Given the description of an element on the screen output the (x, y) to click on. 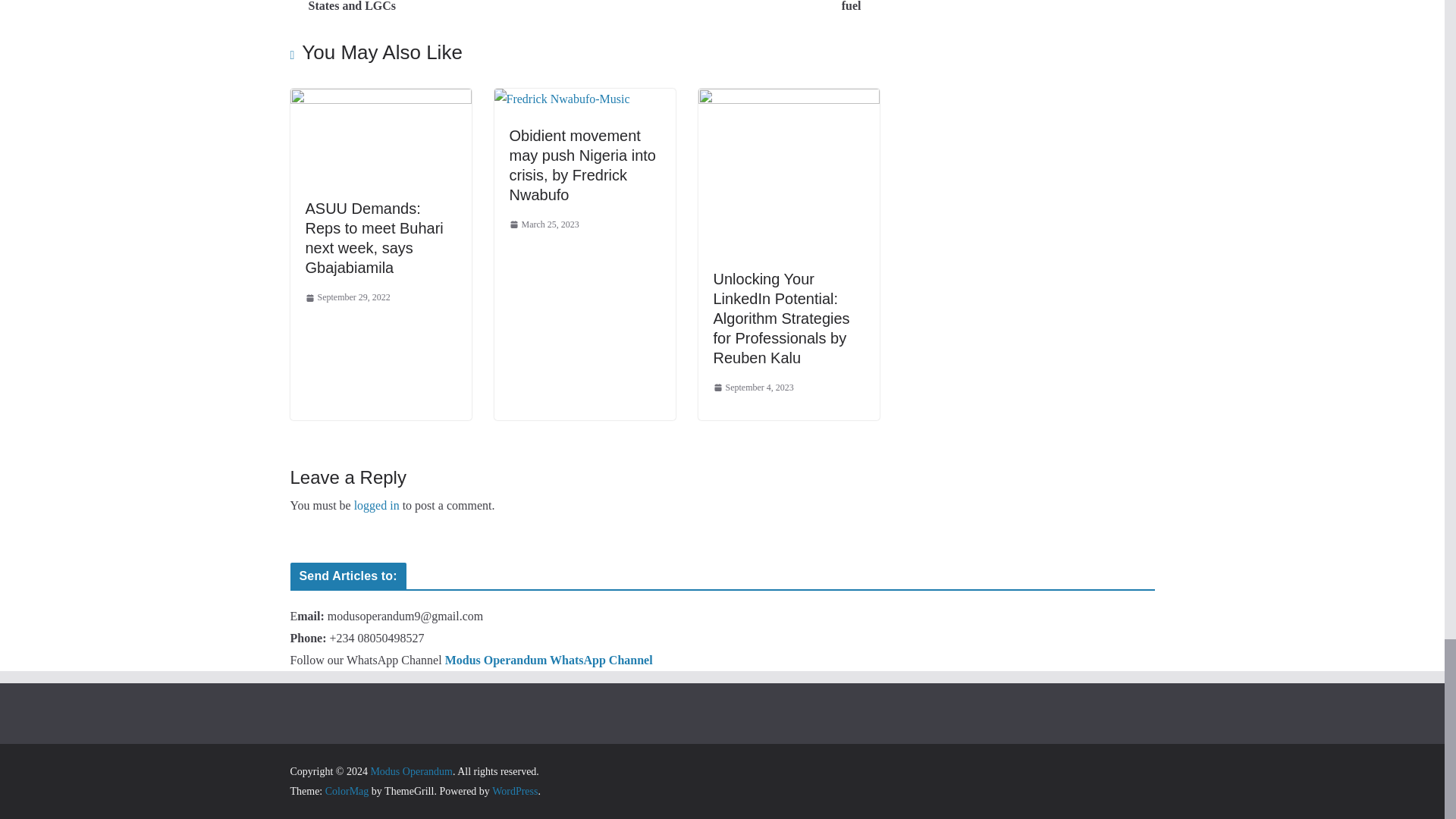
September 4, 2023 (753, 388)
7:32 pm (347, 297)
March 25, 2023 (544, 225)
OPC raises alarm over high cost of oil, gas, aviation fuel (735, 8)
September 29, 2022 (347, 297)
